Given the description of an element on the screen output the (x, y) to click on. 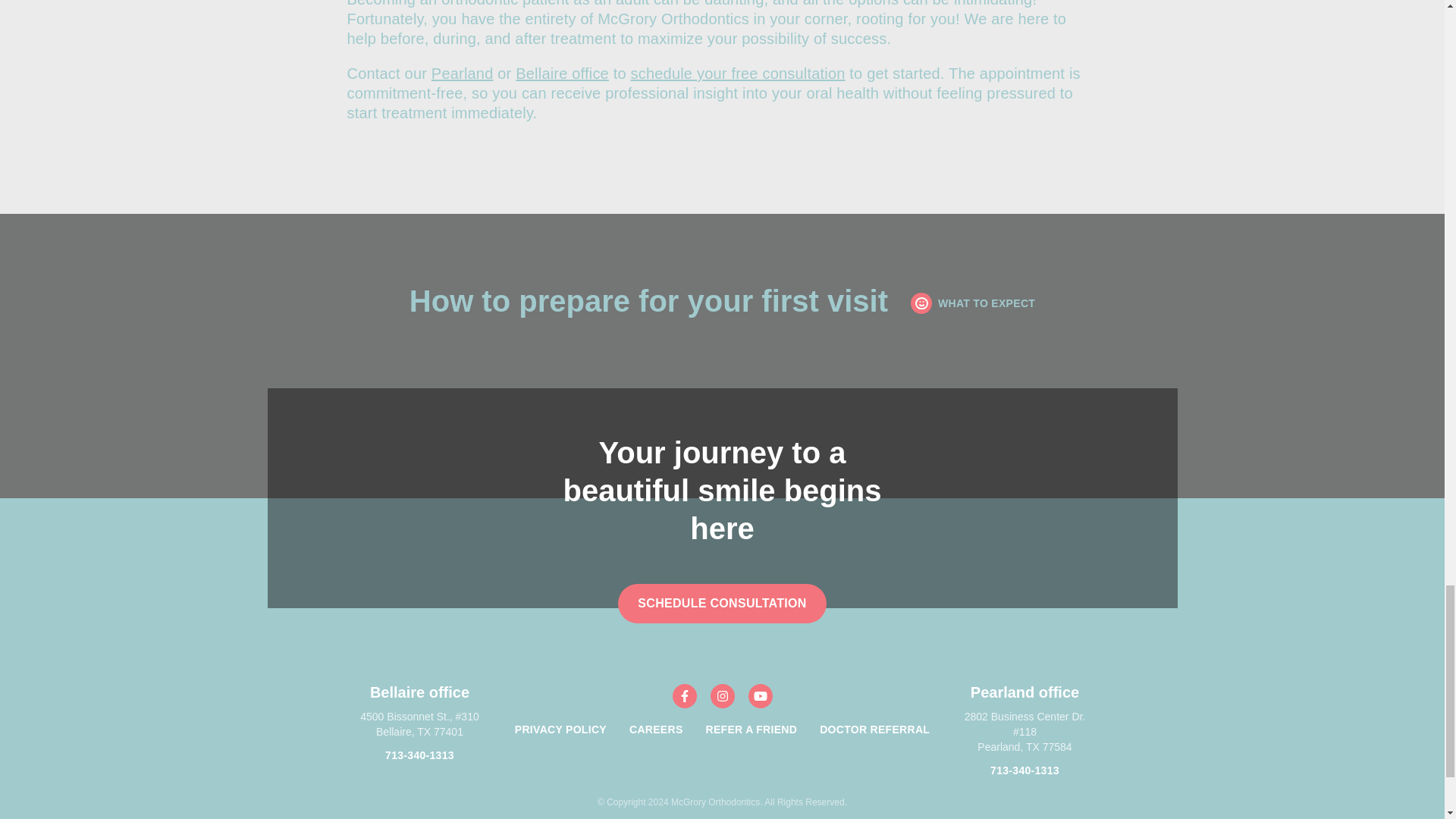
schedule your free consultation (737, 73)
713-340-1313 (419, 755)
Pearland (461, 73)
SCHEDULE CONSULTATION (722, 603)
Bellaire office (561, 73)
WHAT TO EXPECT (973, 302)
